Given the description of an element on the screen output the (x, y) to click on. 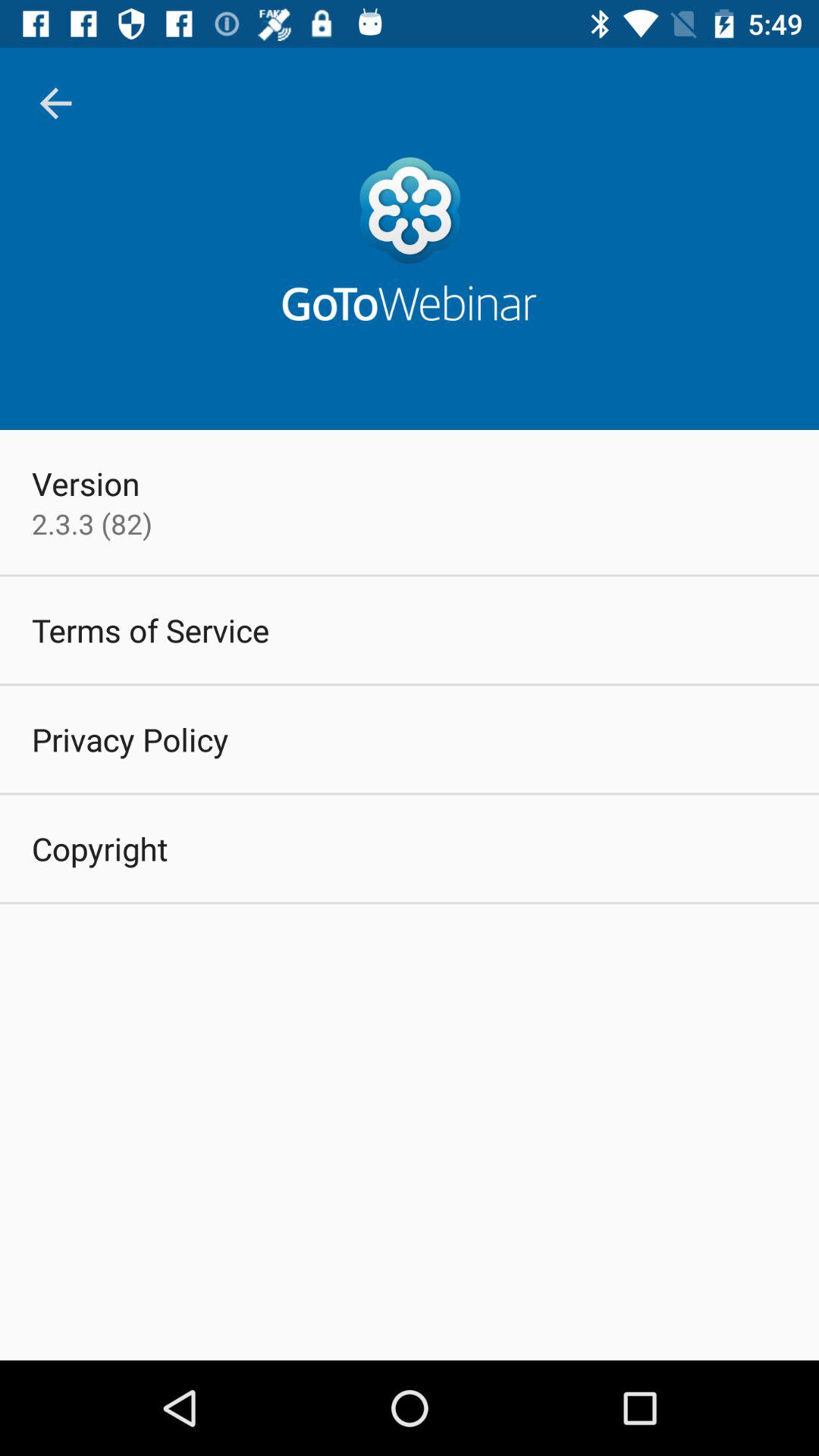
launch the version icon (85, 483)
